Given the description of an element on the screen output the (x, y) to click on. 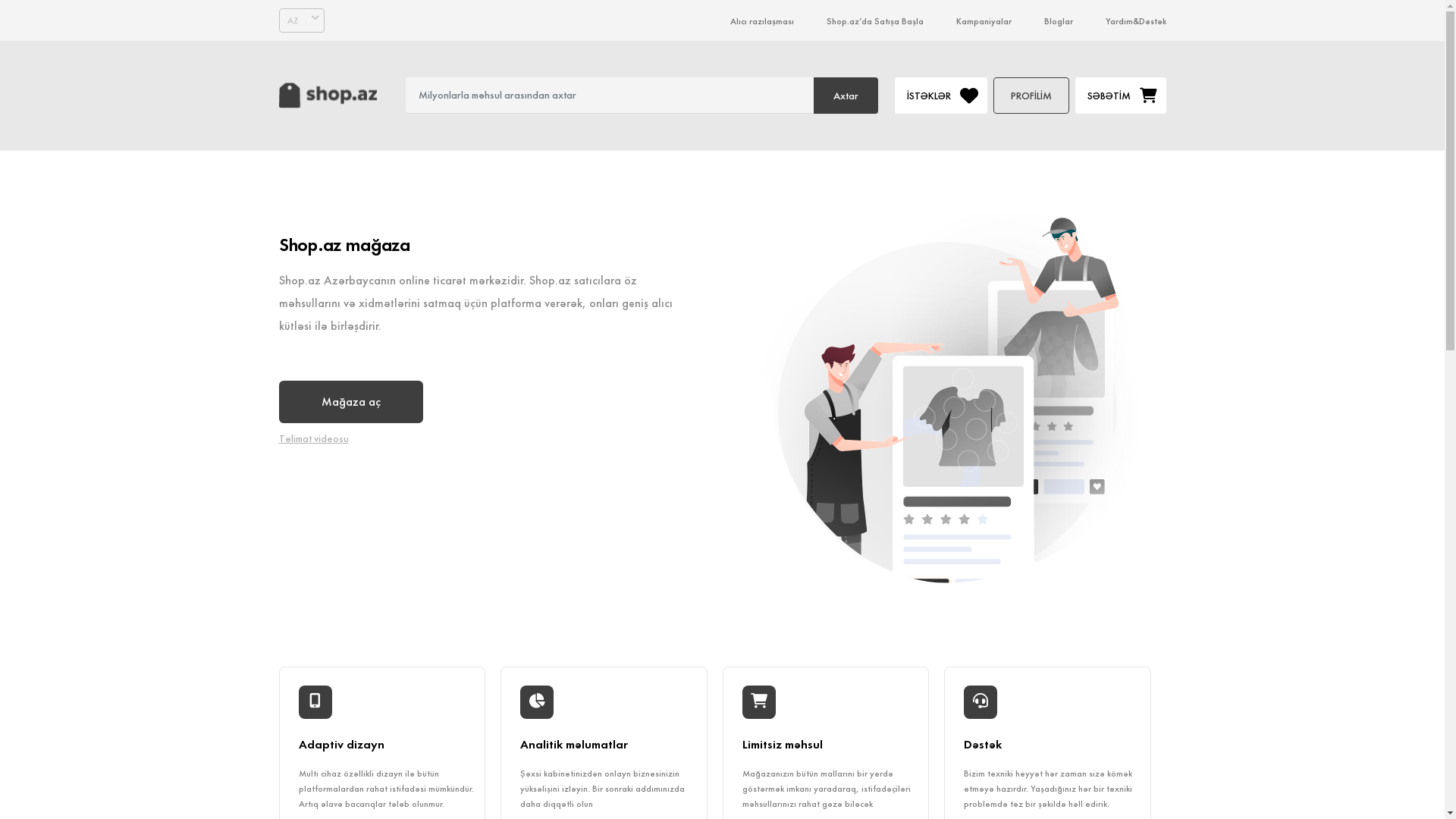
Bloglar Element type: text (1057, 20)
Kampaniyalar Element type: text (982, 20)
